Given the description of an element on the screen output the (x, y) to click on. 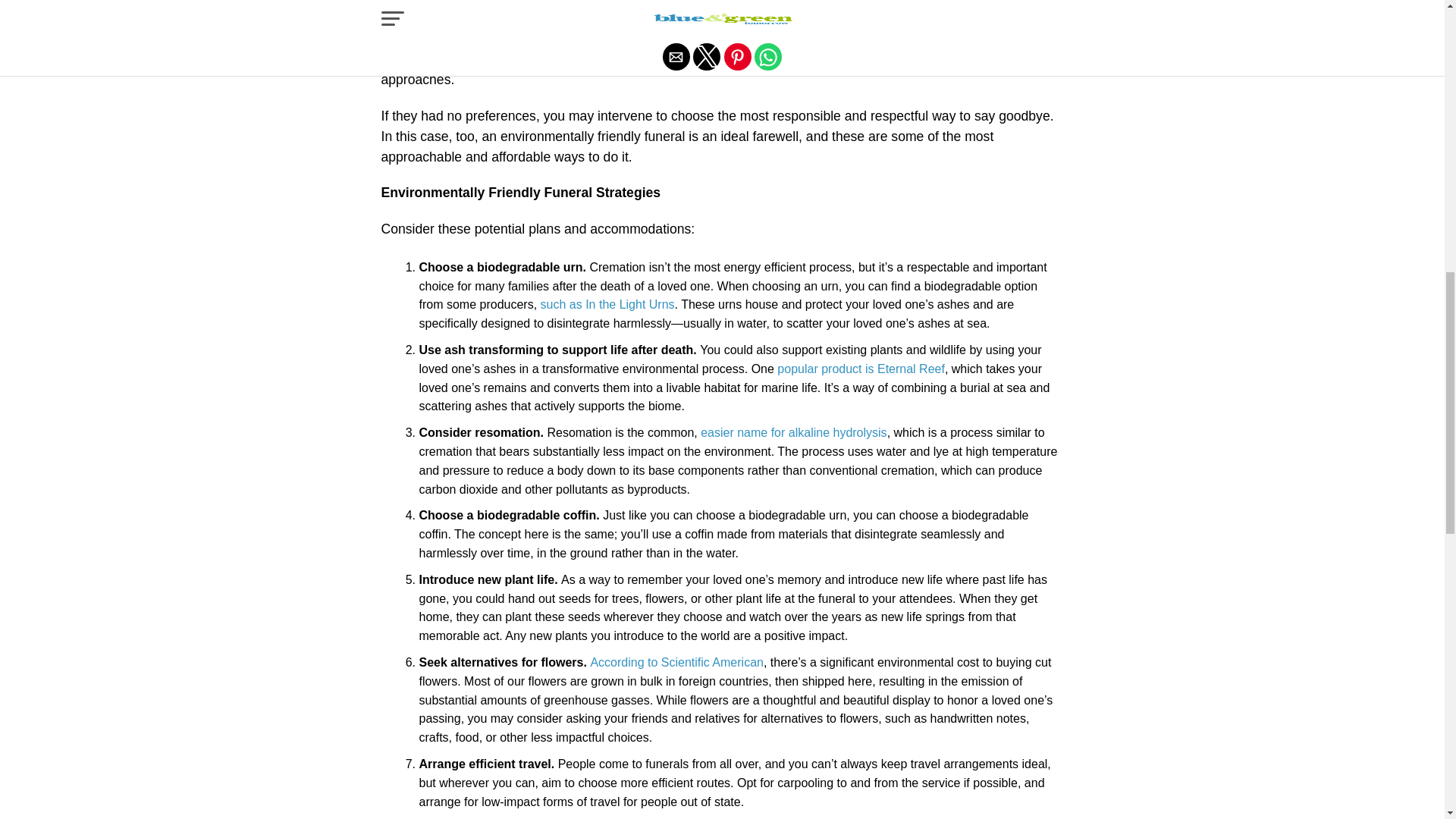
such as In the Light Urns (607, 304)
funeral with minimal environmental impact (595, 58)
popular product is Eternal Reef (860, 368)
easier name for alkaline hydrolysis (793, 431)
According to Scientific American (675, 662)
